Given the description of an element on the screen output the (x, y) to click on. 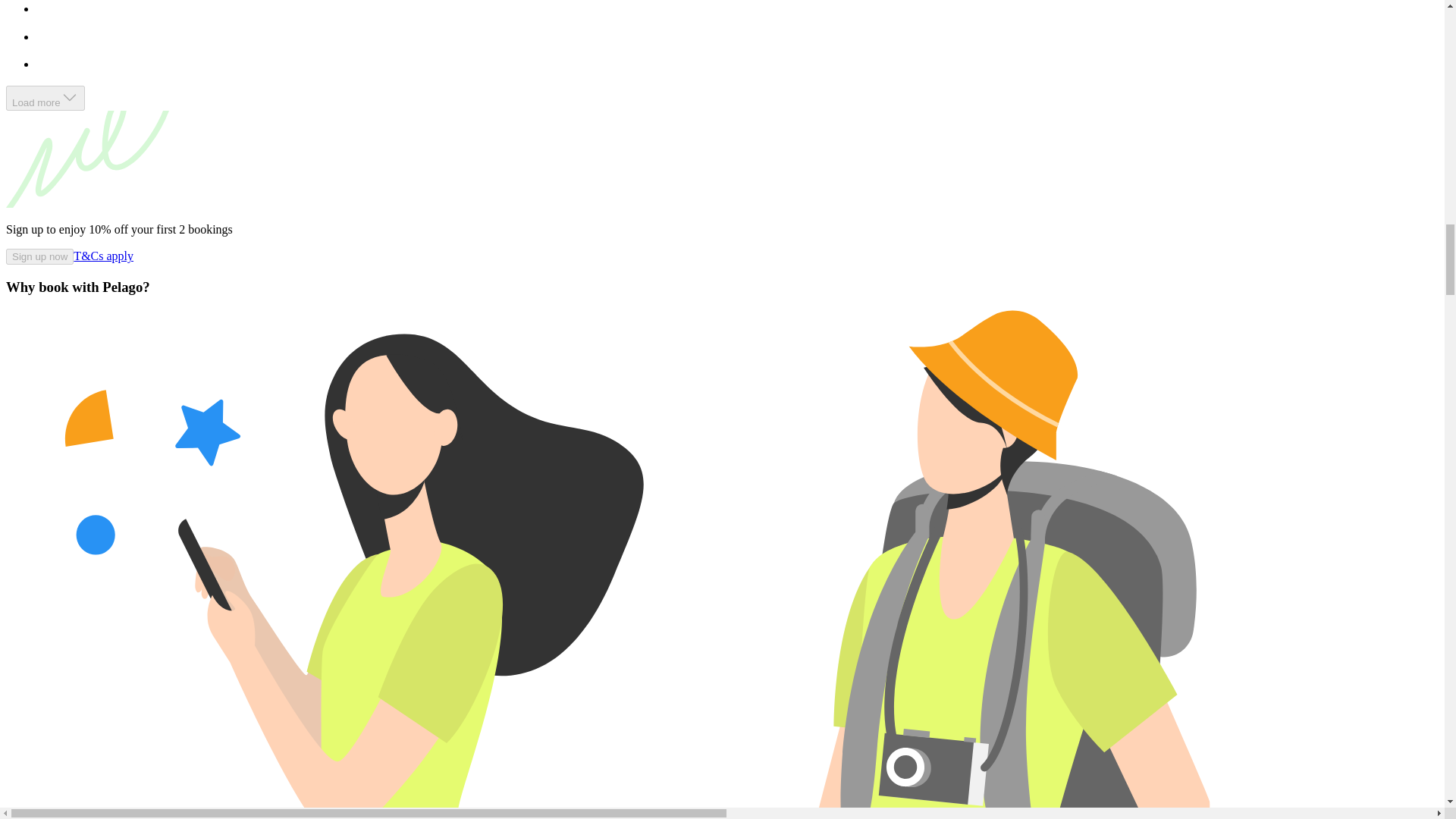
Load more (44, 97)
Sign up now (39, 256)
